Given the description of an element on the screen output the (x, y) to click on. 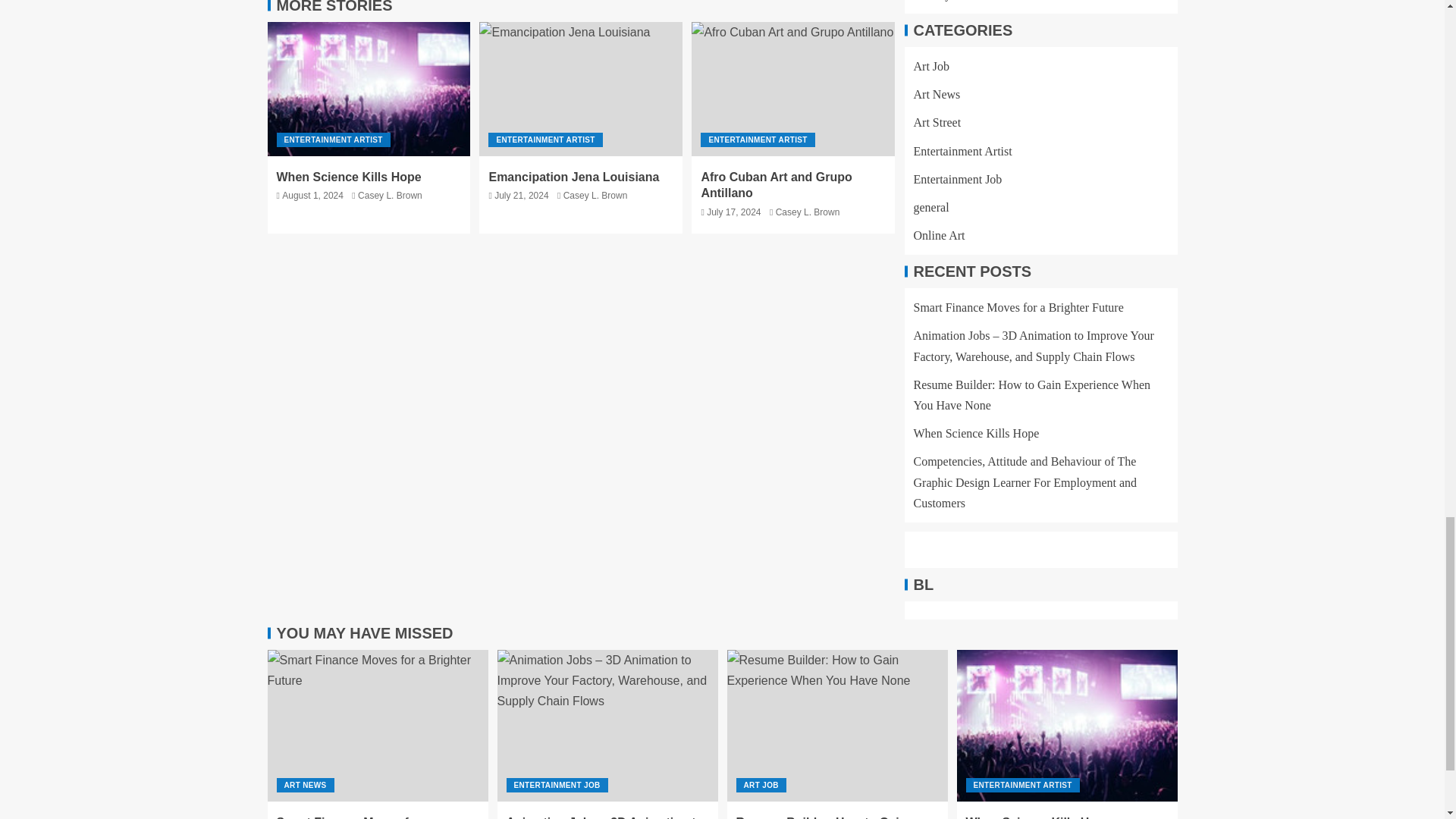
Resume Builder: How to Gain Experience When You Have None (836, 725)
Emancipation Jena Louisiana (580, 89)
Smart Finance Moves for a Brighter Future (376, 725)
When Science Kills Hope (368, 89)
Afro Cuban Art and Grupo Antillano (793, 89)
